Given the description of an element on the screen output the (x, y) to click on. 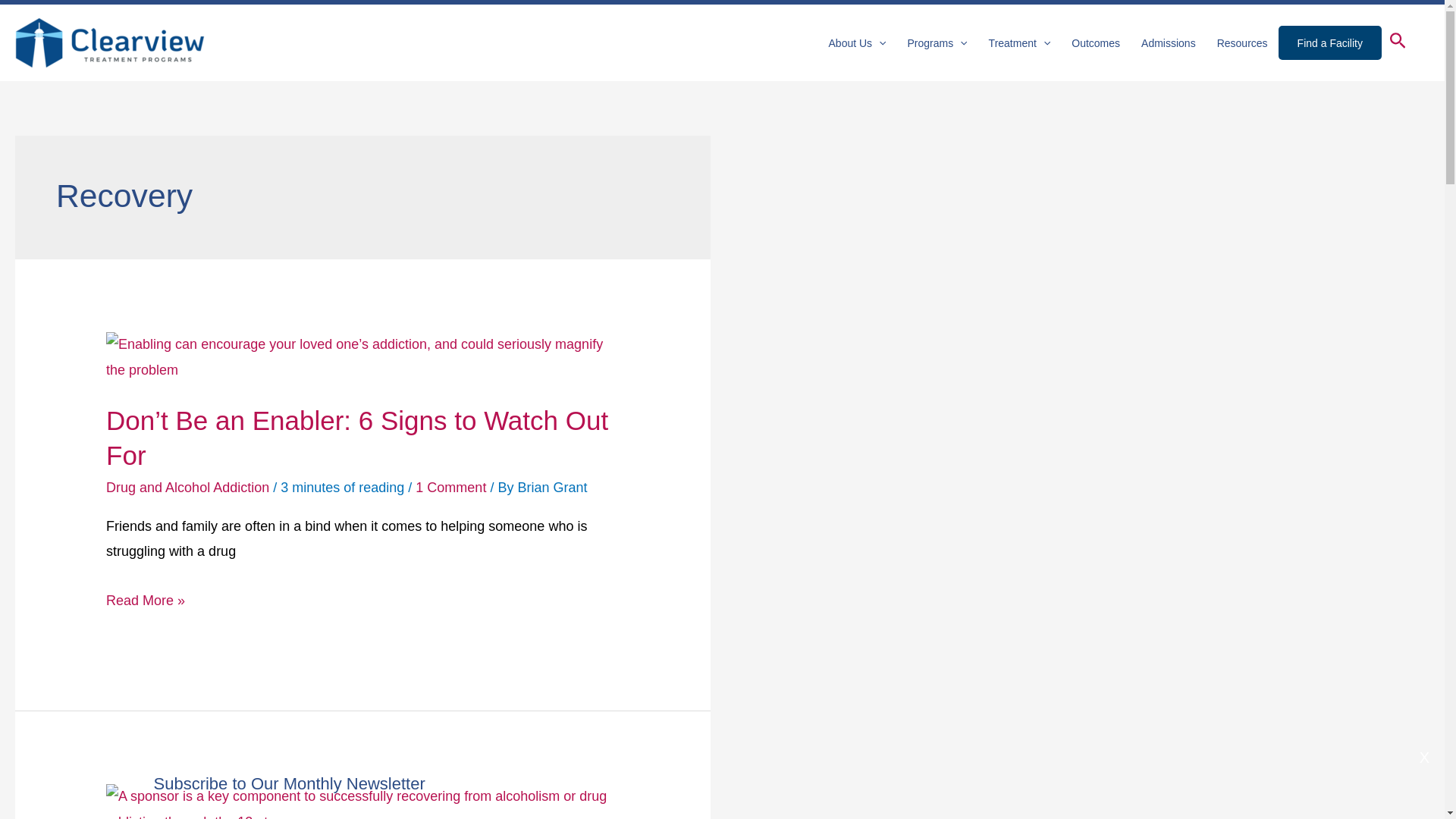
Outcomes (1096, 42)
About Us (857, 42)
Treatment (1019, 42)
Programs (937, 42)
Admissions (1169, 42)
View all posts by Brian Grant (551, 487)
